Given the description of an element on the screen output the (x, y) to click on. 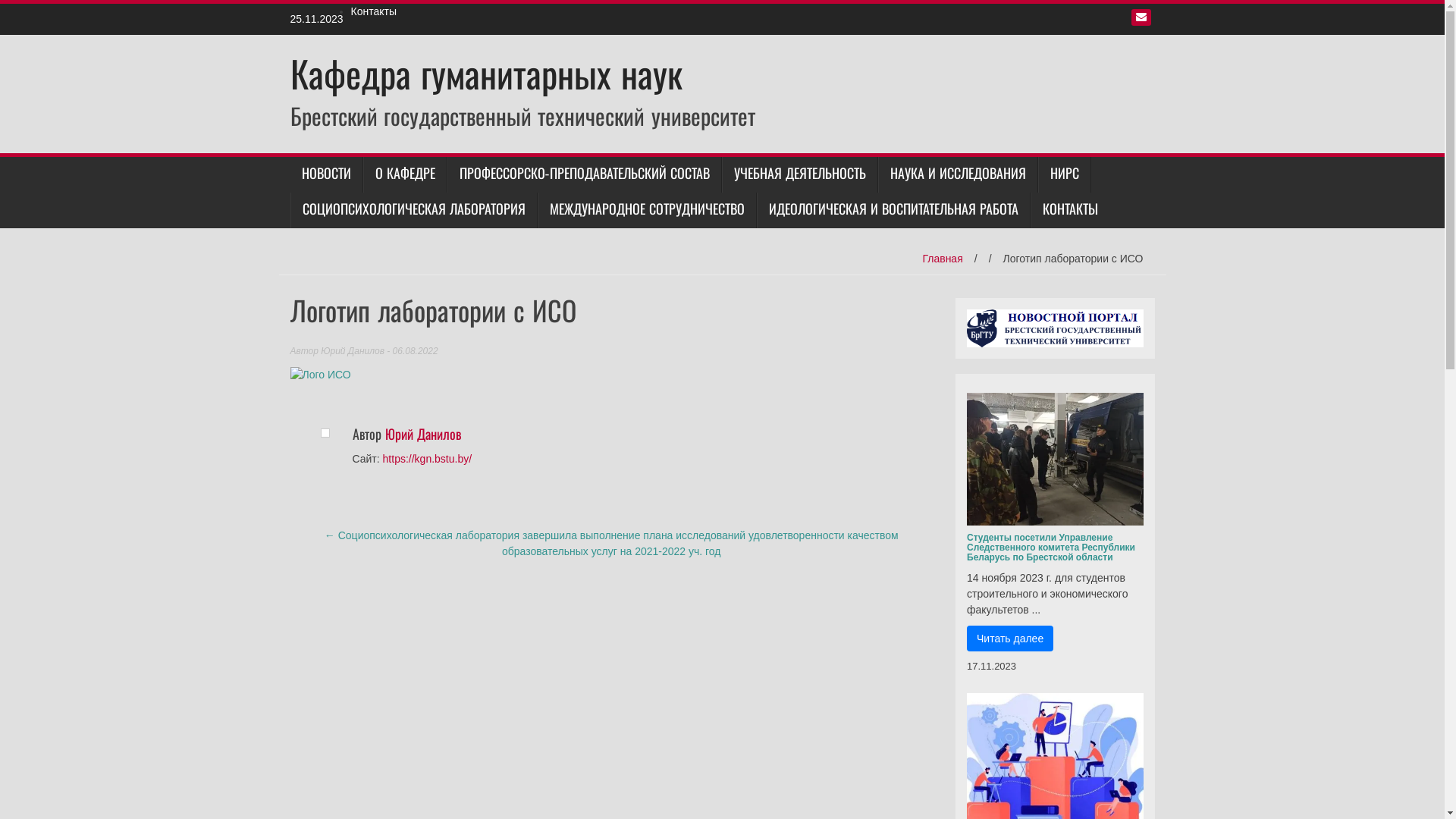
https://kgn.bstu.by/ Element type: text (427, 458)
Email Element type: hover (1141, 17)
